Given the description of an element on the screen output the (x, y) to click on. 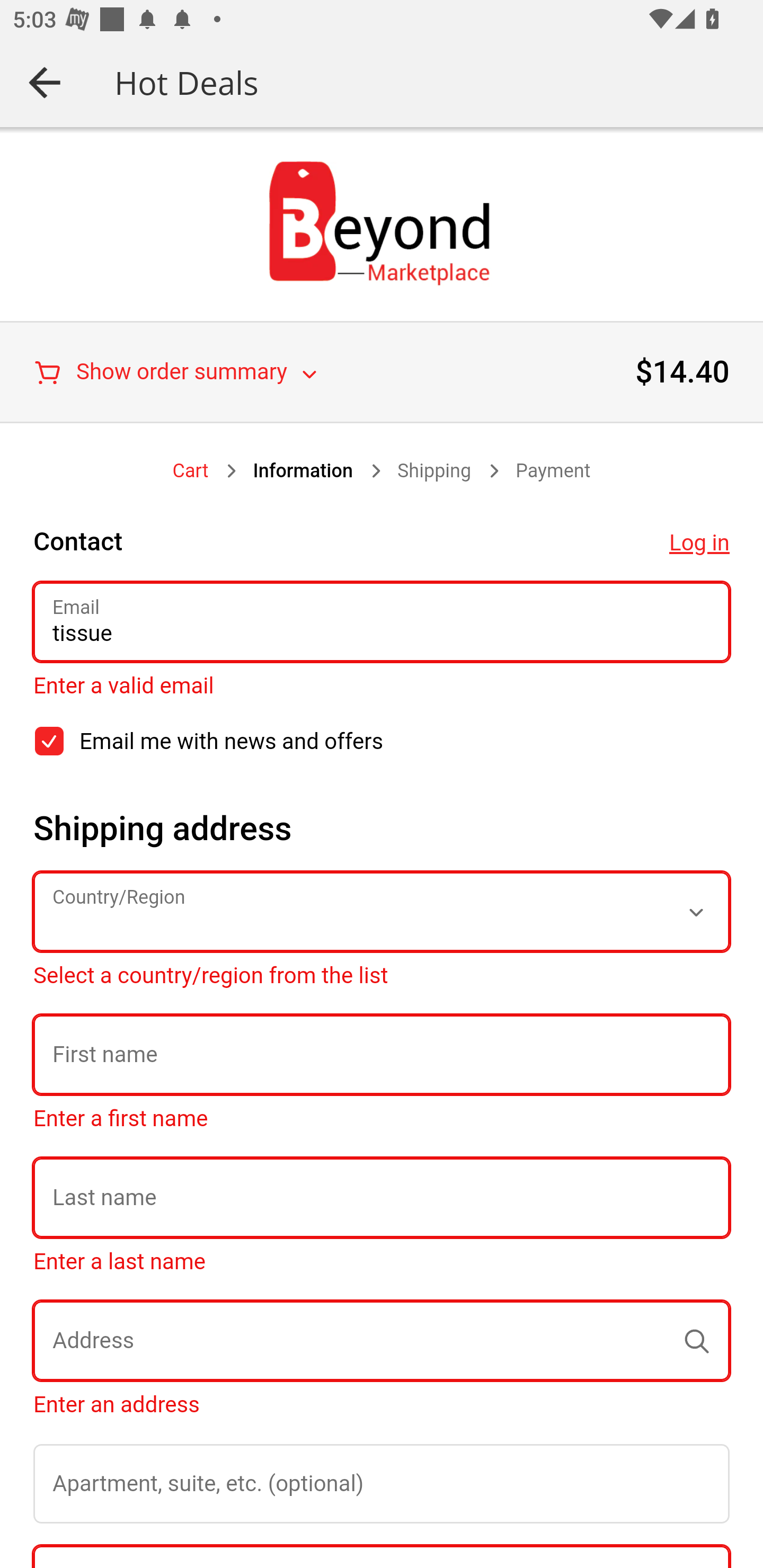
Navigate up (44, 82)
Skip to content (16, 143)
brandsandbeyond (381, 222)
Show order summary $14.40 (381, 372)
Breadcrumb Cart Cart Information Shipping Payment (381, 471)
Cart (190, 470)
Log in (699, 543)
tissue (381, 622)
Email me with news and offers (48, 740)
Country/Region (381, 910)
